Given the description of an element on the screen output the (x, y) to click on. 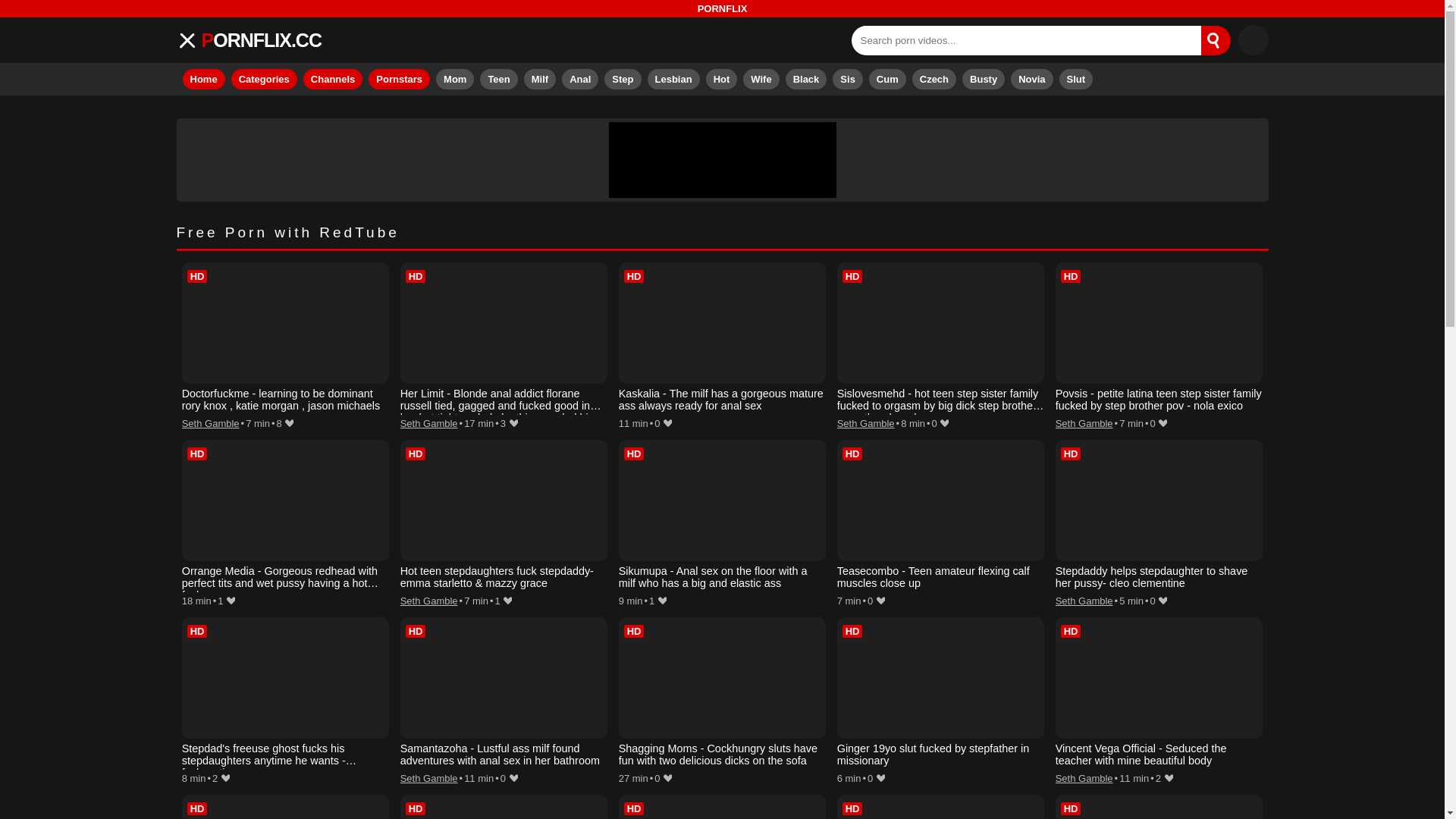
Categories (264, 78)
Teen (498, 78)
Cum (887, 78)
Teen (498, 78)
Hot (722, 78)
Anal (580, 78)
Channels (332, 78)
Mom (454, 78)
Sis (847, 78)
Czech (934, 78)
Wife (760, 78)
Busty (983, 78)
Seth Gamble (211, 423)
Lesbian (673, 78)
